Given the description of an element on the screen output the (x, y) to click on. 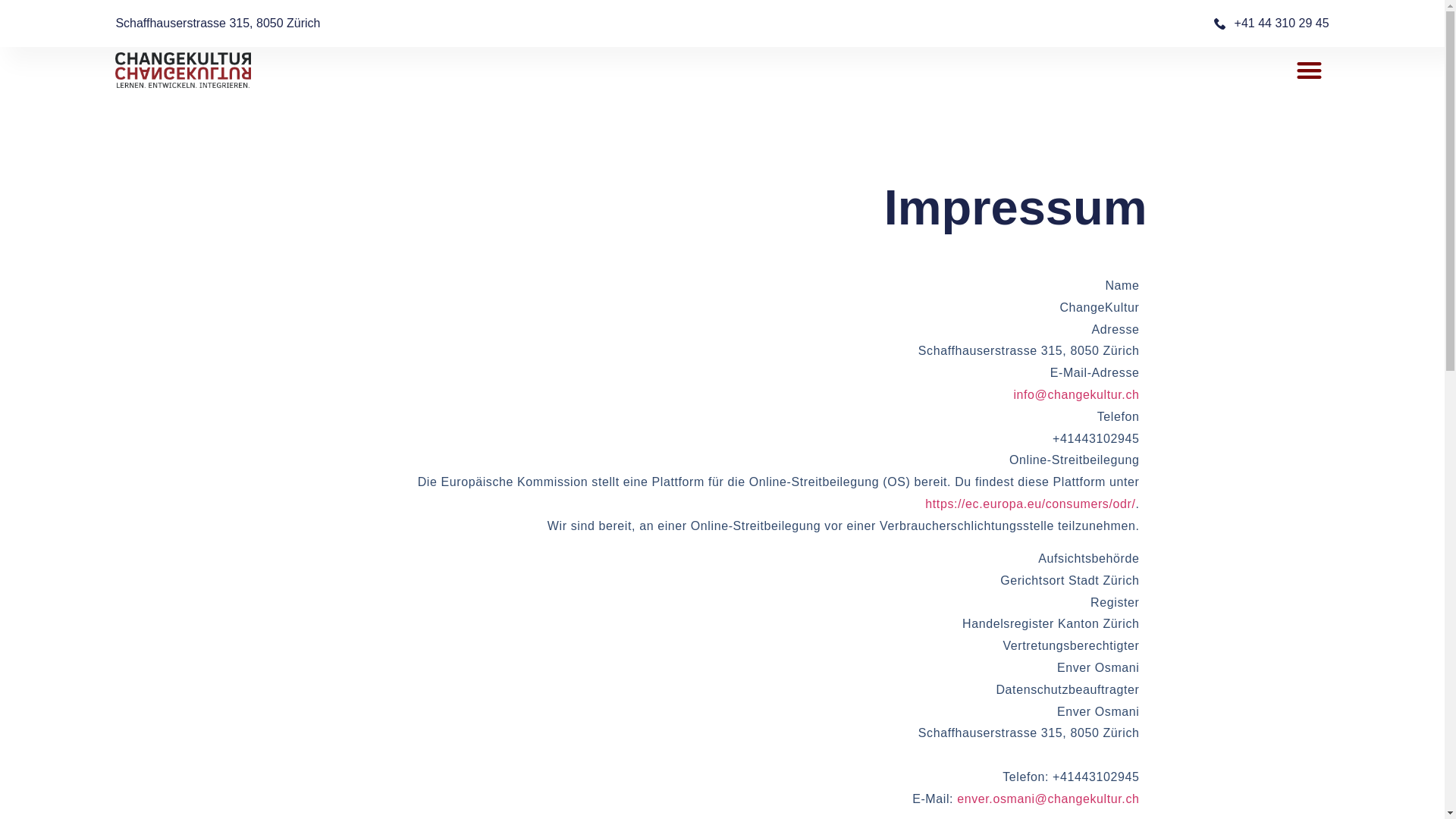
info@changekultur.ch Element type: text (1076, 394)
enver.osmani@changekultur.ch Element type: text (1048, 798)
+41 44 310 29 45 Element type: text (1024, 23)
https://ec.europa.eu/consumers/odr/ Element type: text (1030, 503)
